Given the description of an element on the screen output the (x, y) to click on. 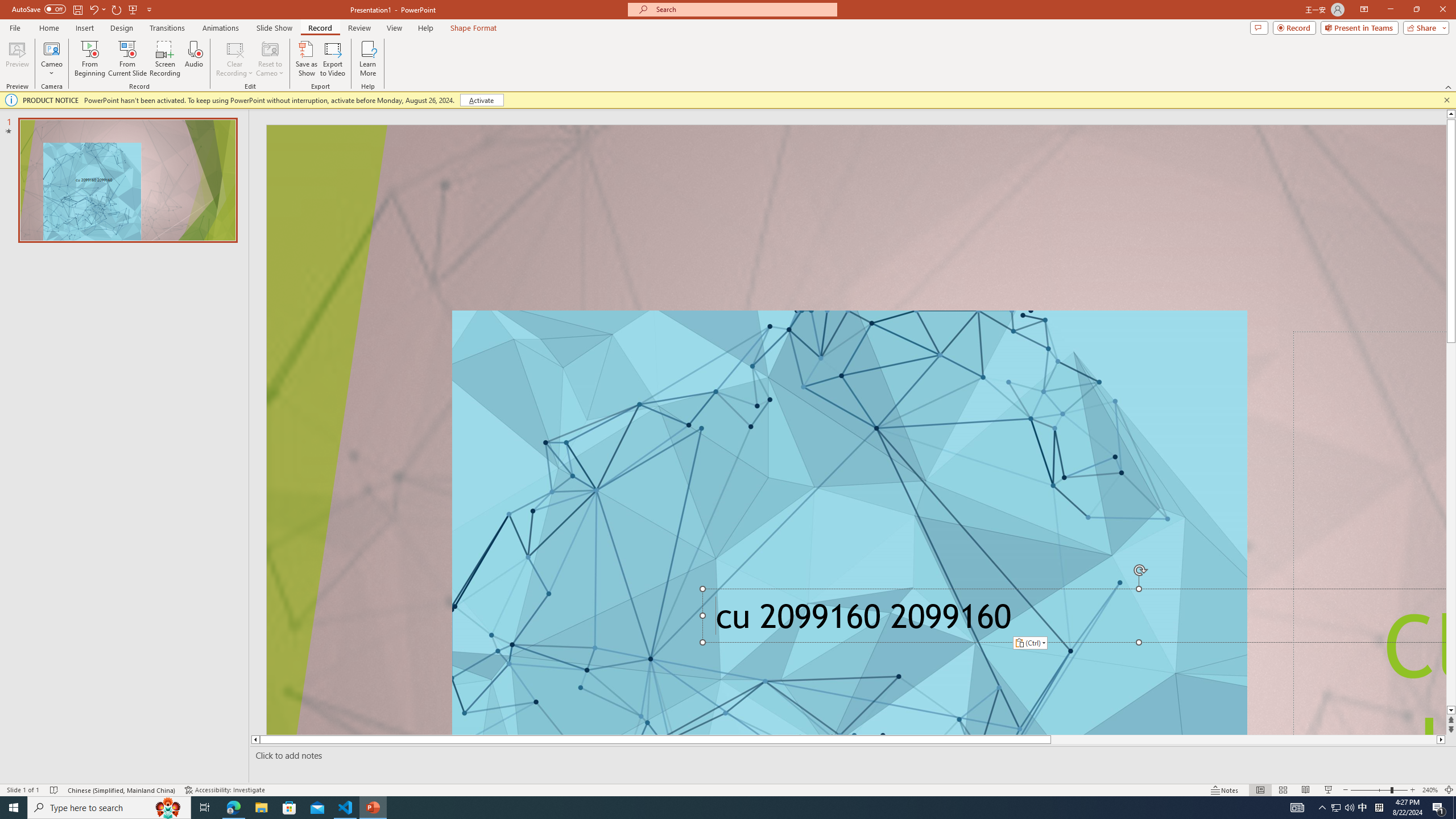
Action: Paste alternatives (1030, 642)
An abstract genetic concept (855, 429)
